Given the description of an element on the screen output the (x, y) to click on. 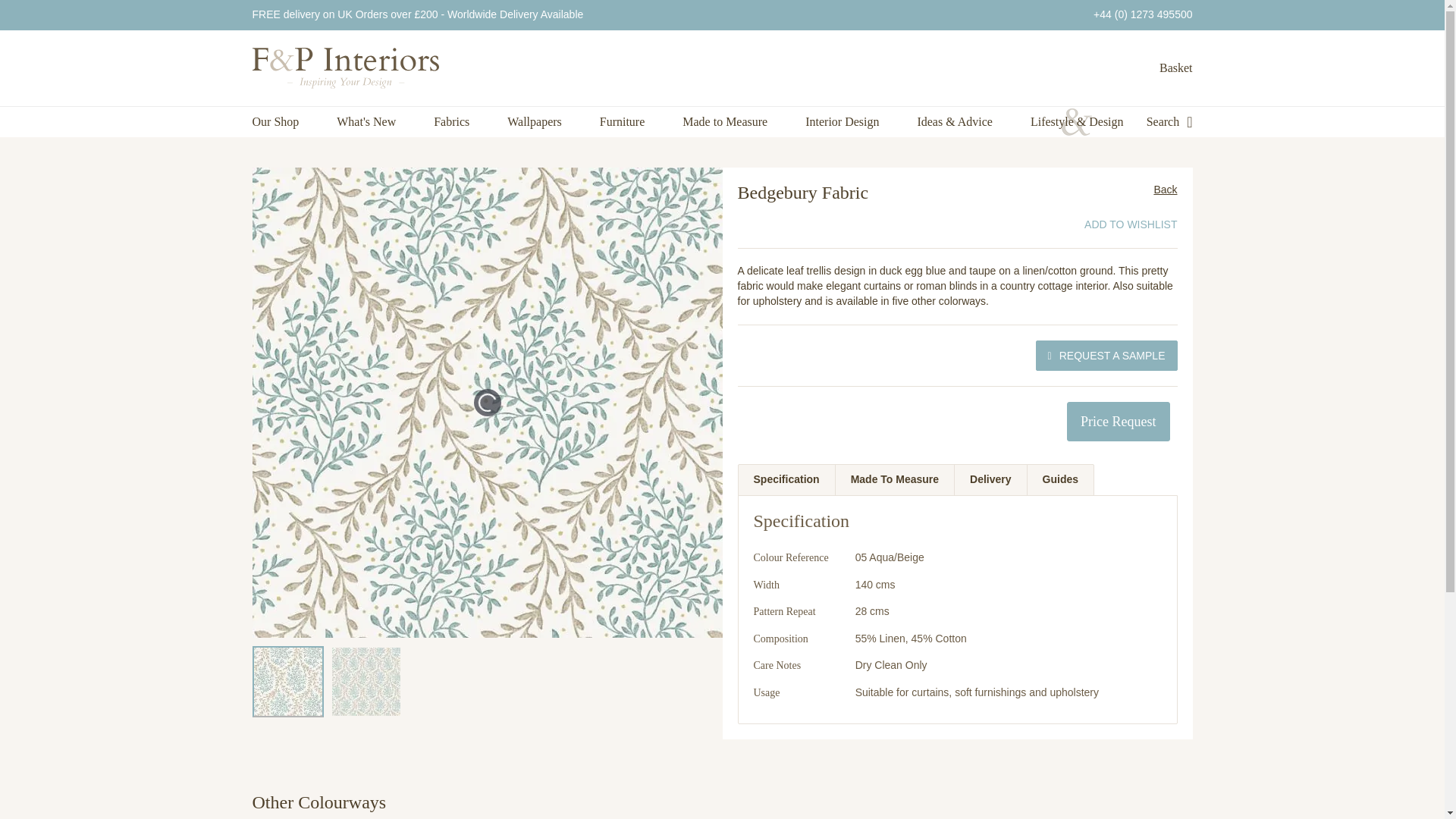
Our Shop (274, 122)
Wallpapers (534, 122)
Fabrics (450, 122)
What's New (366, 122)
Basket (1175, 67)
